Given the description of an element on the screen output the (x, y) to click on. 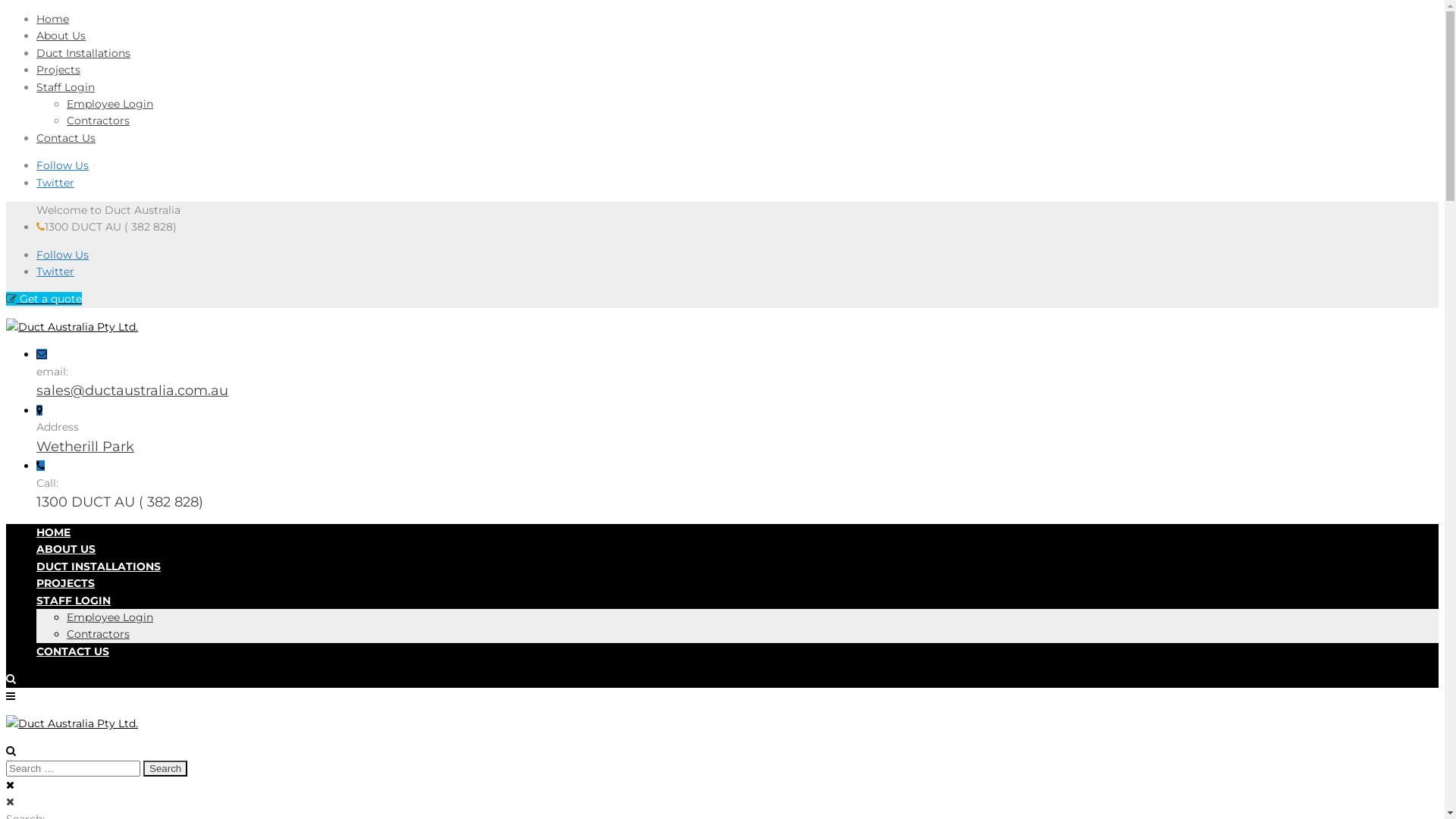
Follow Us Element type: text (62, 254)
Duct Installations Element type: text (83, 52)
Home Element type: text (52, 18)
Duct Australia Pty Ltd. - Specialist Ducting Suppliers Element type: hover (72, 326)
Employee Login Element type: text (109, 103)
STAFF LOGIN Element type: text (73, 600)
PROJECTS Element type: text (65, 582)
DUCT INSTALLATIONS Element type: text (98, 566)
ABOUT US Element type: text (65, 548)
Projects Element type: text (58, 69)
Twitter Element type: text (55, 271)
Staff Login Element type: text (65, 87)
Contractors Element type: text (97, 120)
CONTACT US Element type: text (72, 651)
Follow Us Element type: text (62, 165)
About Us Element type: text (60, 35)
Twitter Element type: text (55, 182)
Wetherill Park Element type: text (85, 446)
Duct Australia Pty Ltd. - Specialist Ducting Suppliers Element type: hover (72, 723)
sales@ductaustralia.com.au Element type: text (132, 390)
HOME Element type: text (53, 532)
Employee Login Element type: text (109, 617)
Get a quote Element type: text (43, 298)
1300 DUCT AU ( 382 828) Element type: text (119, 501)
Contact Us Element type: text (65, 137)
Contractors Element type: text (97, 633)
Search Element type: text (165, 768)
